Given the description of an element on the screen output the (x, y) to click on. 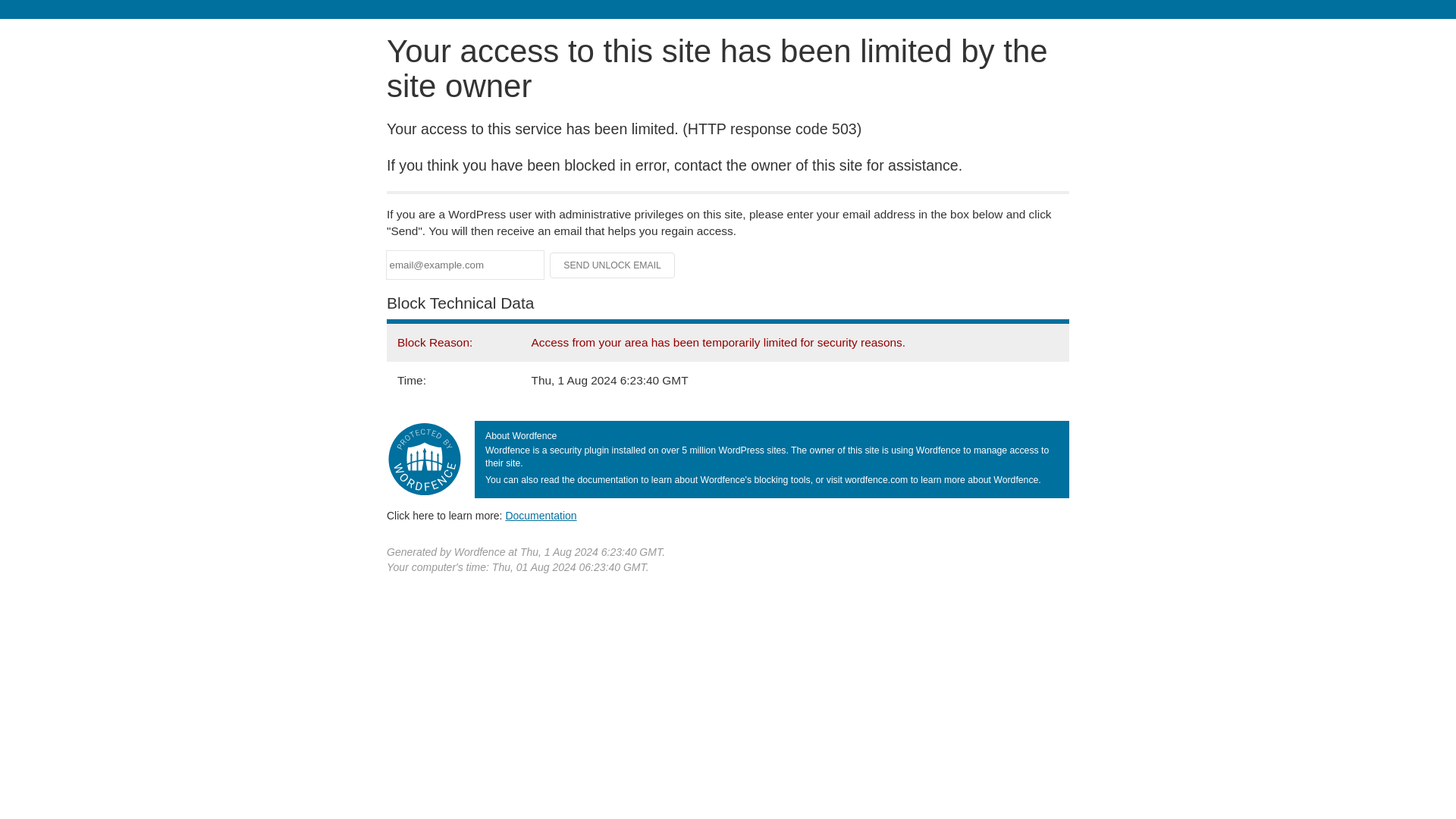
Send Unlock Email (612, 265)
Documentation (540, 515)
Send Unlock Email (612, 265)
